Given the description of an element on the screen output the (x, y) to click on. 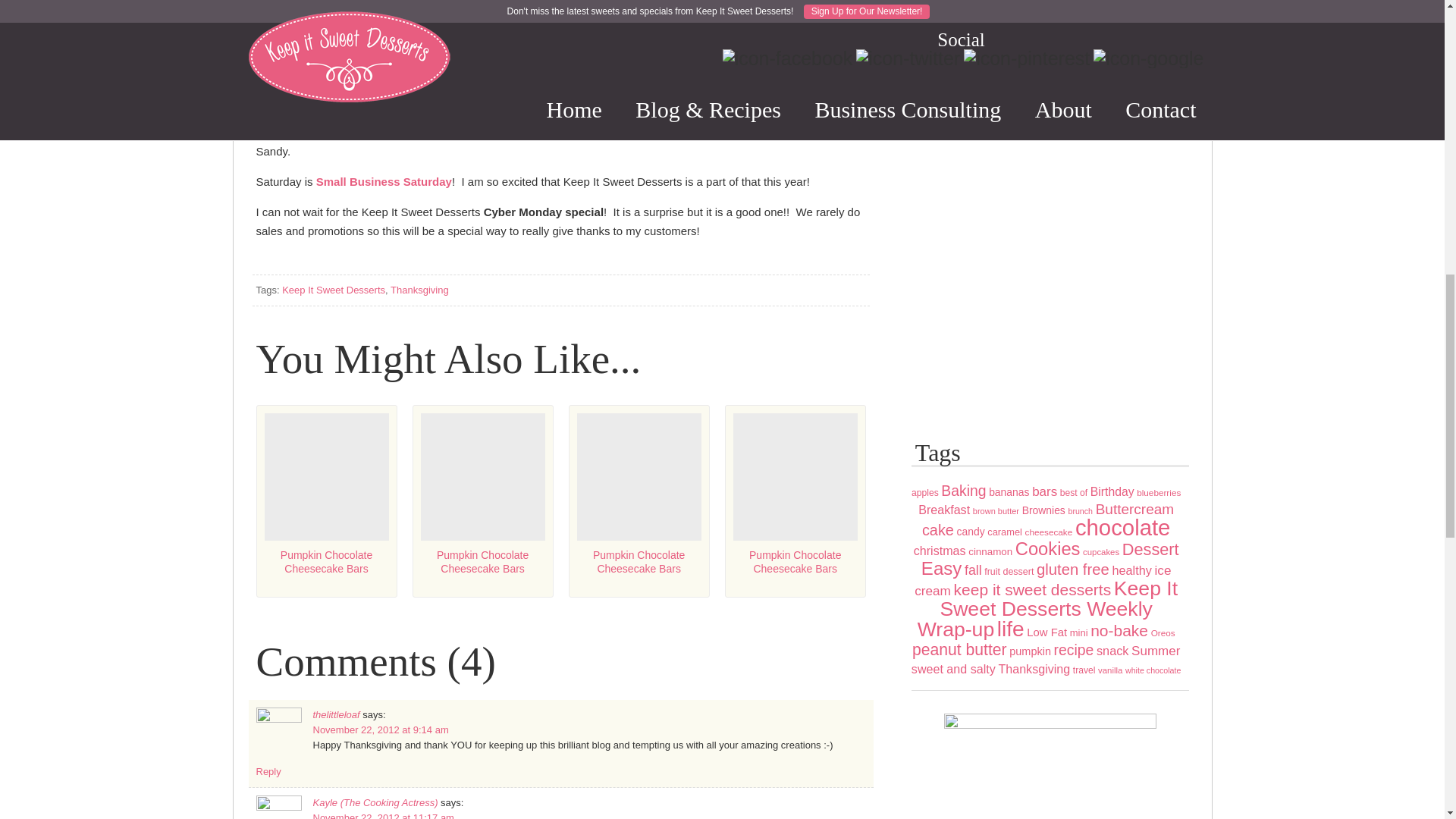
Reply (268, 771)
Pumpkin Chocolate Cheesecake Bars (326, 501)
Thanksgiving (419, 289)
Keep It Sweet Desserts (333, 289)
November 22, 2012 at 9:14 am (380, 729)
Pumpkin Chocolate Cheesecake Bars (795, 501)
thelittleloaf (336, 714)
Community Food Bank of New Jersey (687, 113)
Small Business Saturday (383, 181)
Pumpkin Chocolate Cheesecake Bars (482, 501)
Pumpkin Chocolate Cheesecake Bars (638, 501)
November 22, 2012 at 11:17 am (382, 815)
